Given the description of an element on the screen output the (x, y) to click on. 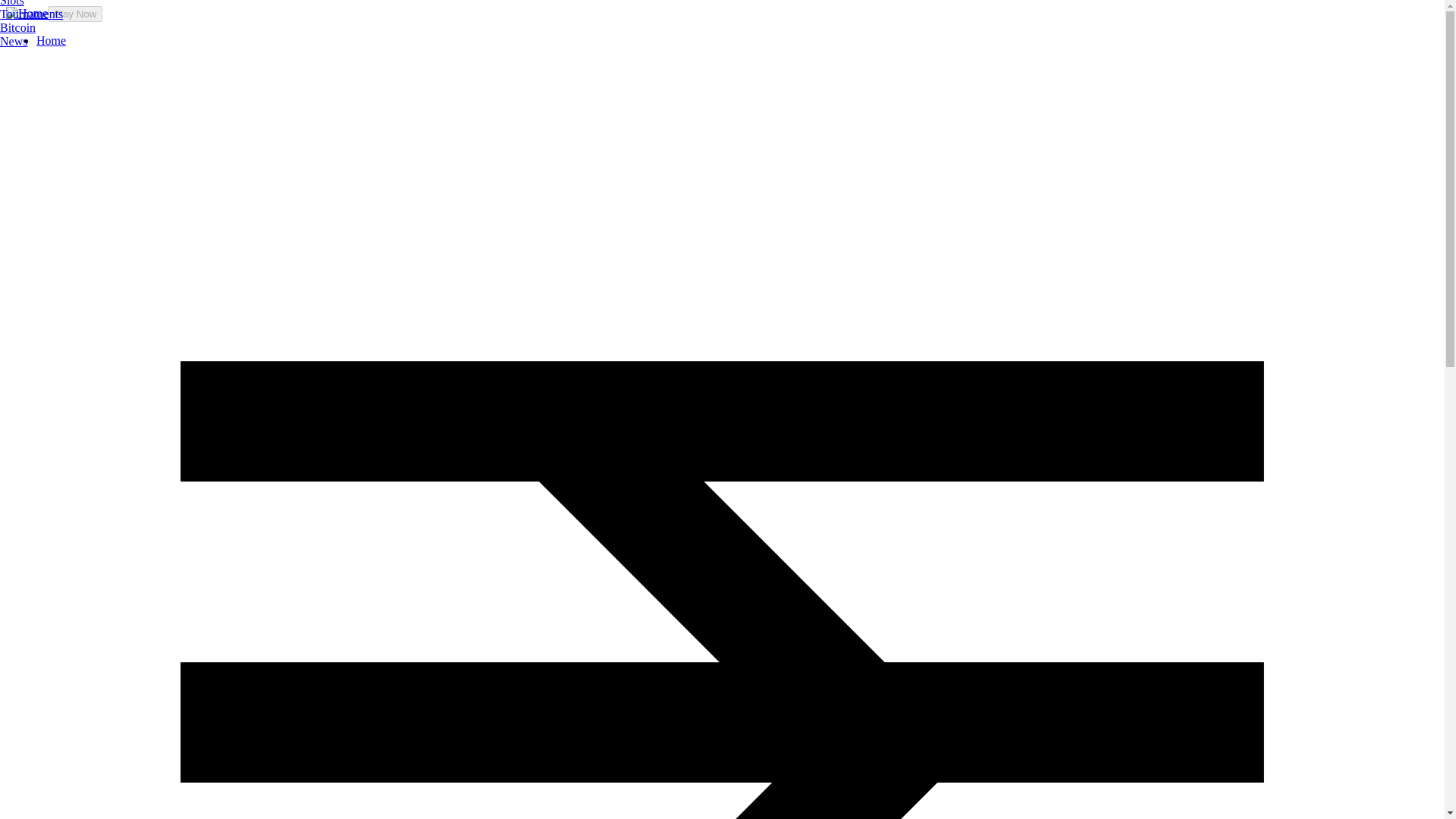
Play Now (74, 13)
Home (50, 40)
